Given the description of an element on the screen output the (x, y) to click on. 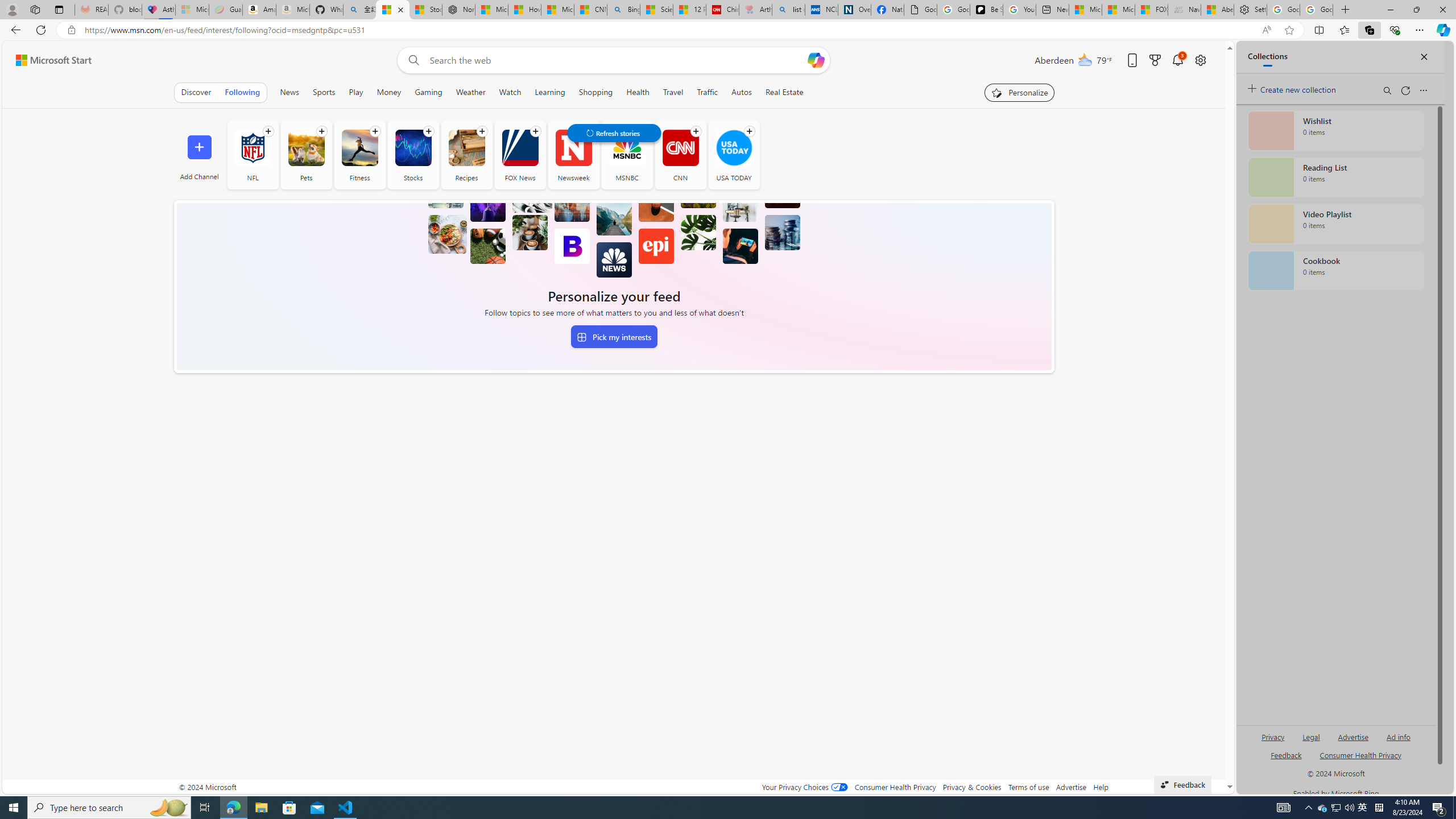
list of asthma inhalers uk - Search (788, 9)
Microsoft-Report a Concern to Bing - Sleeping (192, 9)
Money (388, 92)
Watch (510, 92)
Recipes (466, 155)
How I Got Rid of Microsoft Edge's Unnecessary Features (524, 9)
Gaming (428, 92)
Science - MSN (656, 9)
Learning (549, 92)
Your Privacy Choices (804, 786)
